Given the description of an element on the screen output the (x, y) to click on. 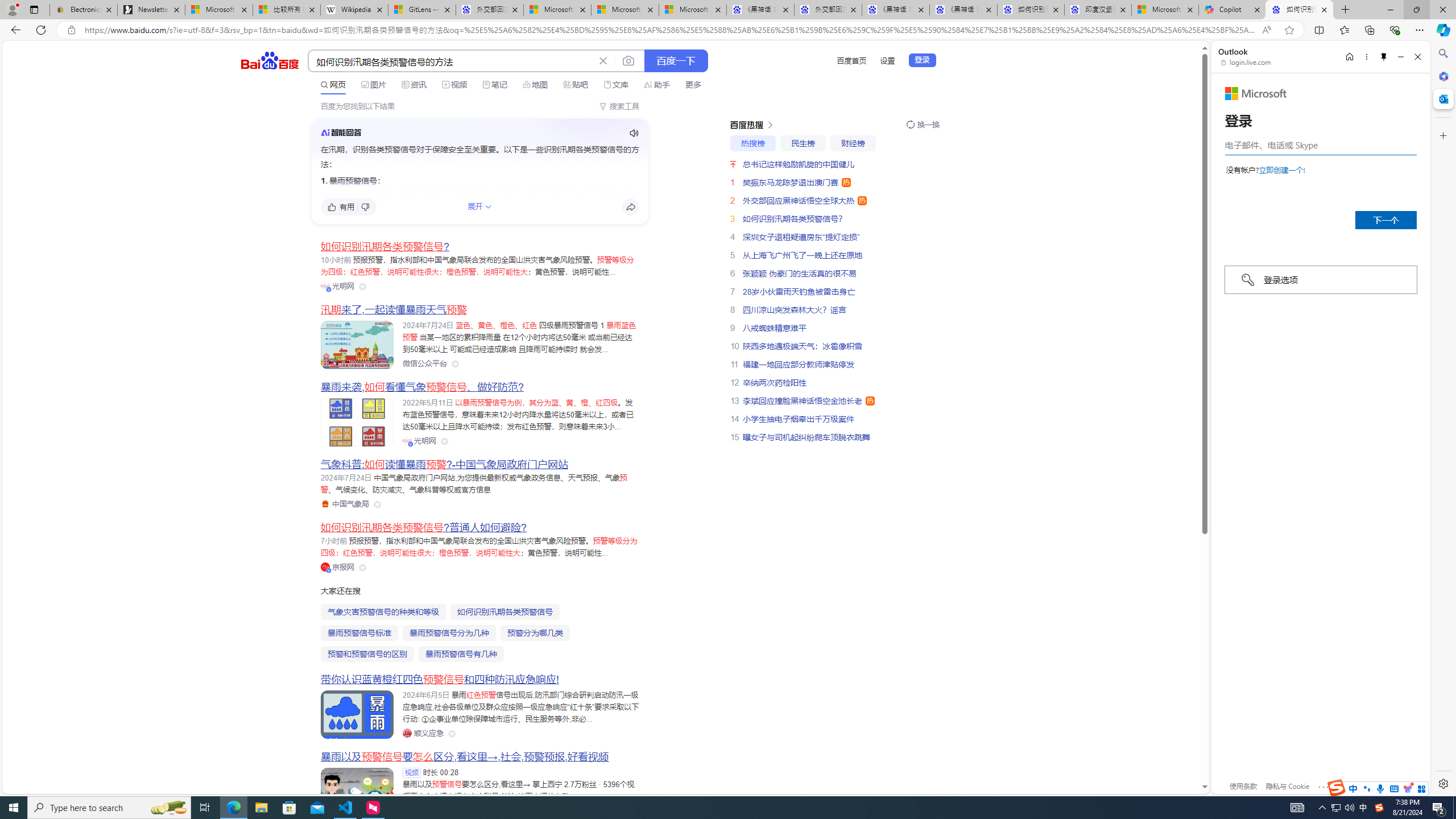
Class: vip-icon_kNmNt (328, 570)
Newsletter Sign Up (150, 9)
